Given the description of an element on the screen output the (x, y) to click on. 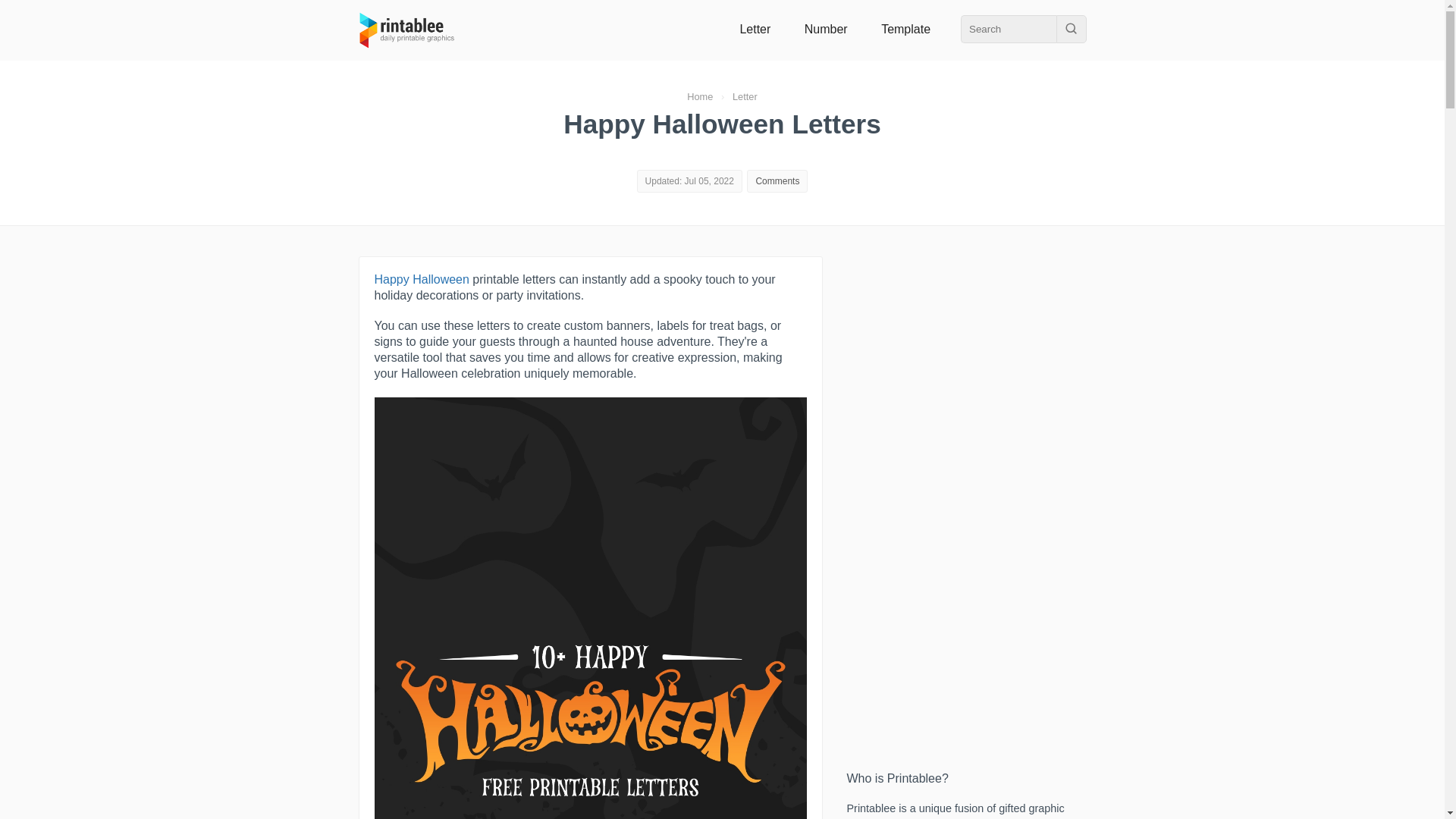
Number (826, 29)
Printable Template Category (905, 29)
Letter (754, 29)
Letter (744, 96)
Happy Halloween (421, 278)
Comments (777, 181)
Home (700, 96)
Printable Letter Category (754, 29)
Printable Number Category (826, 29)
